Given the description of an element on the screen output the (x, y) to click on. 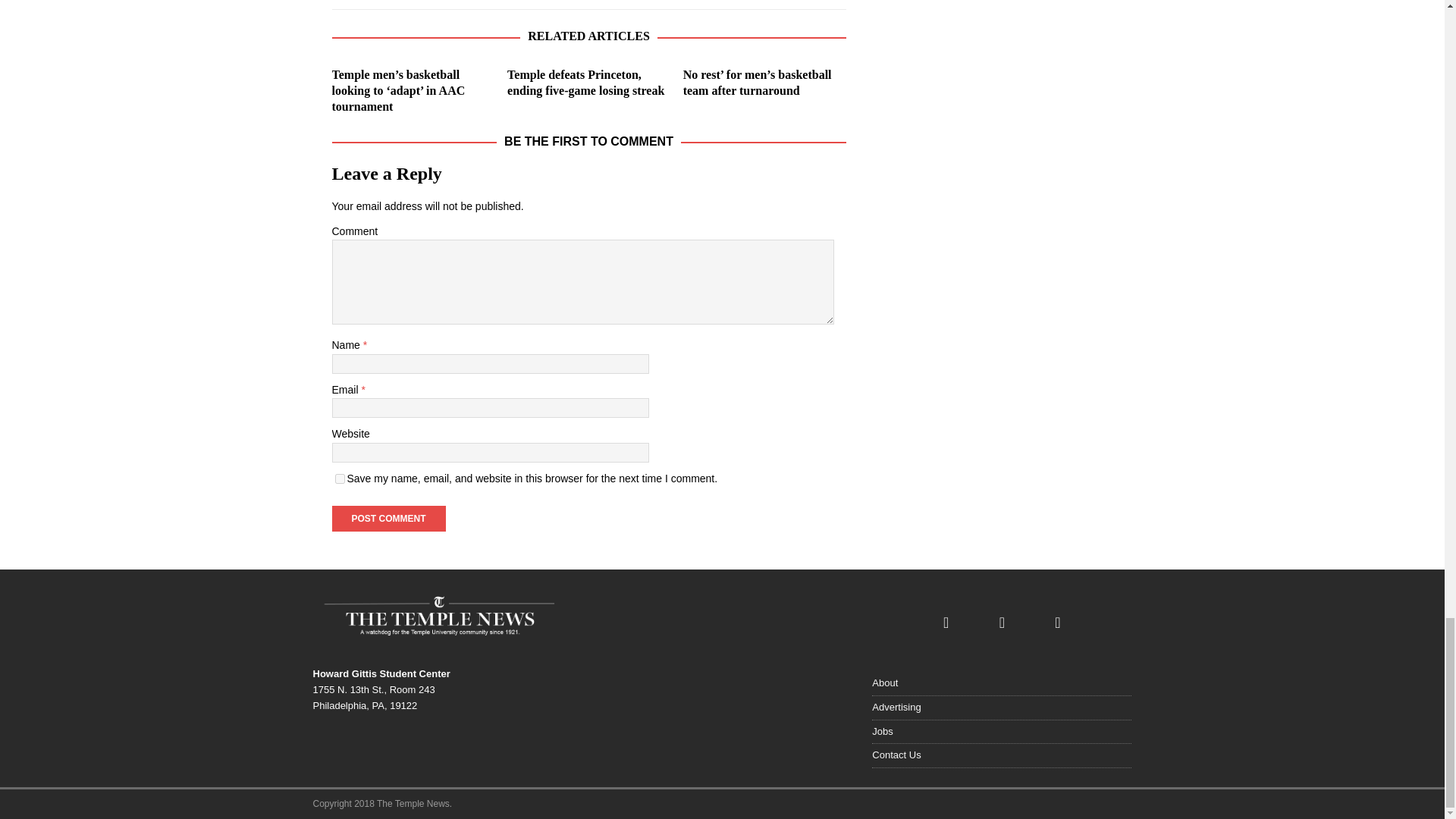
yes (339, 479)
Post Comment (388, 518)
